Given the description of an element on the screen output the (x, y) to click on. 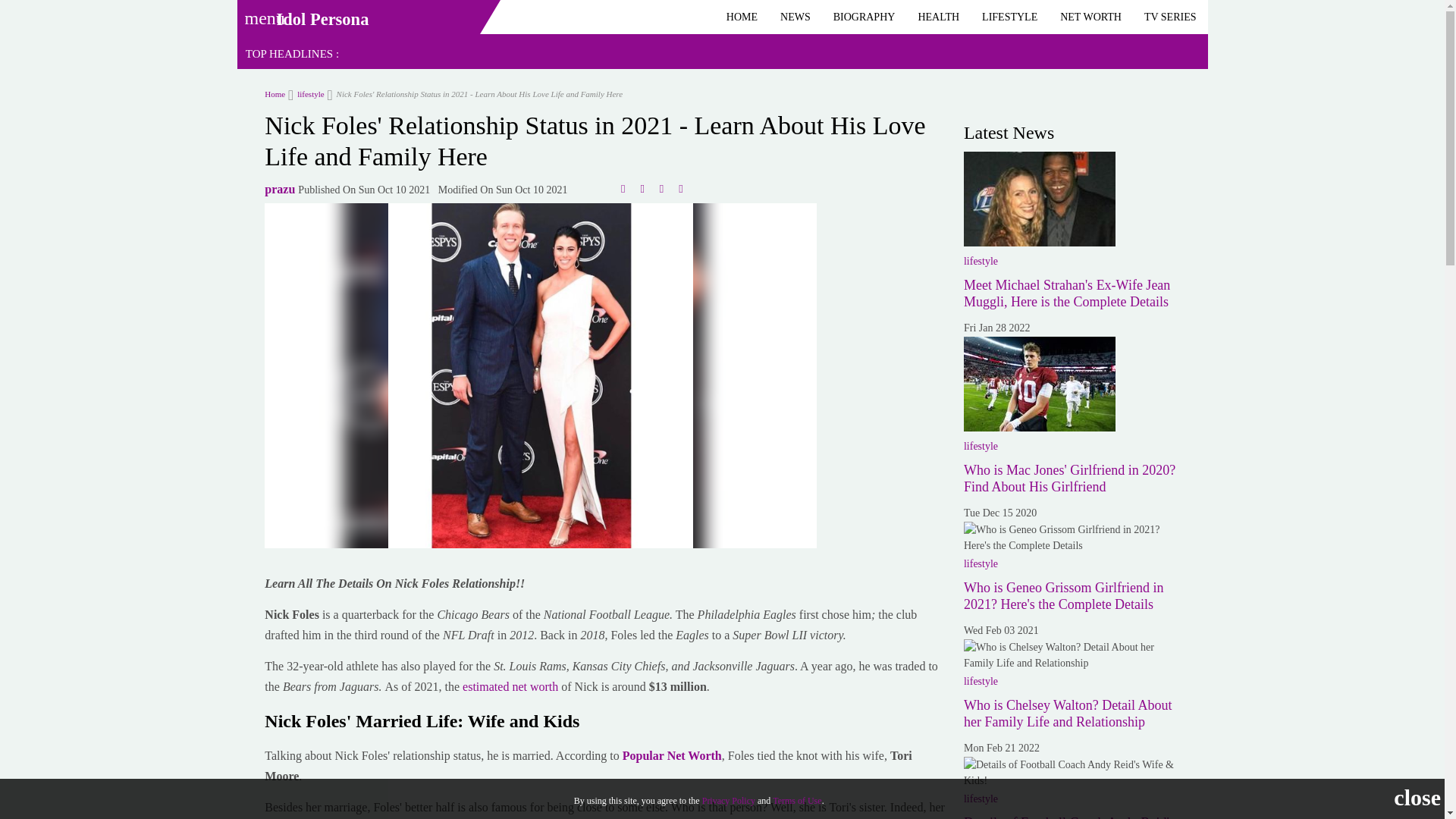
HEALTH (938, 17)
Privacy Policy (728, 800)
HOME (741, 17)
prazu (279, 188)
BIOGRAPHY (864, 17)
TV SERIES (1170, 17)
LIFESTYLE (1009, 17)
estimated net worth (511, 686)
Popular Net Worth (672, 755)
Home (274, 93)
